Given the description of an element on the screen output the (x, y) to click on. 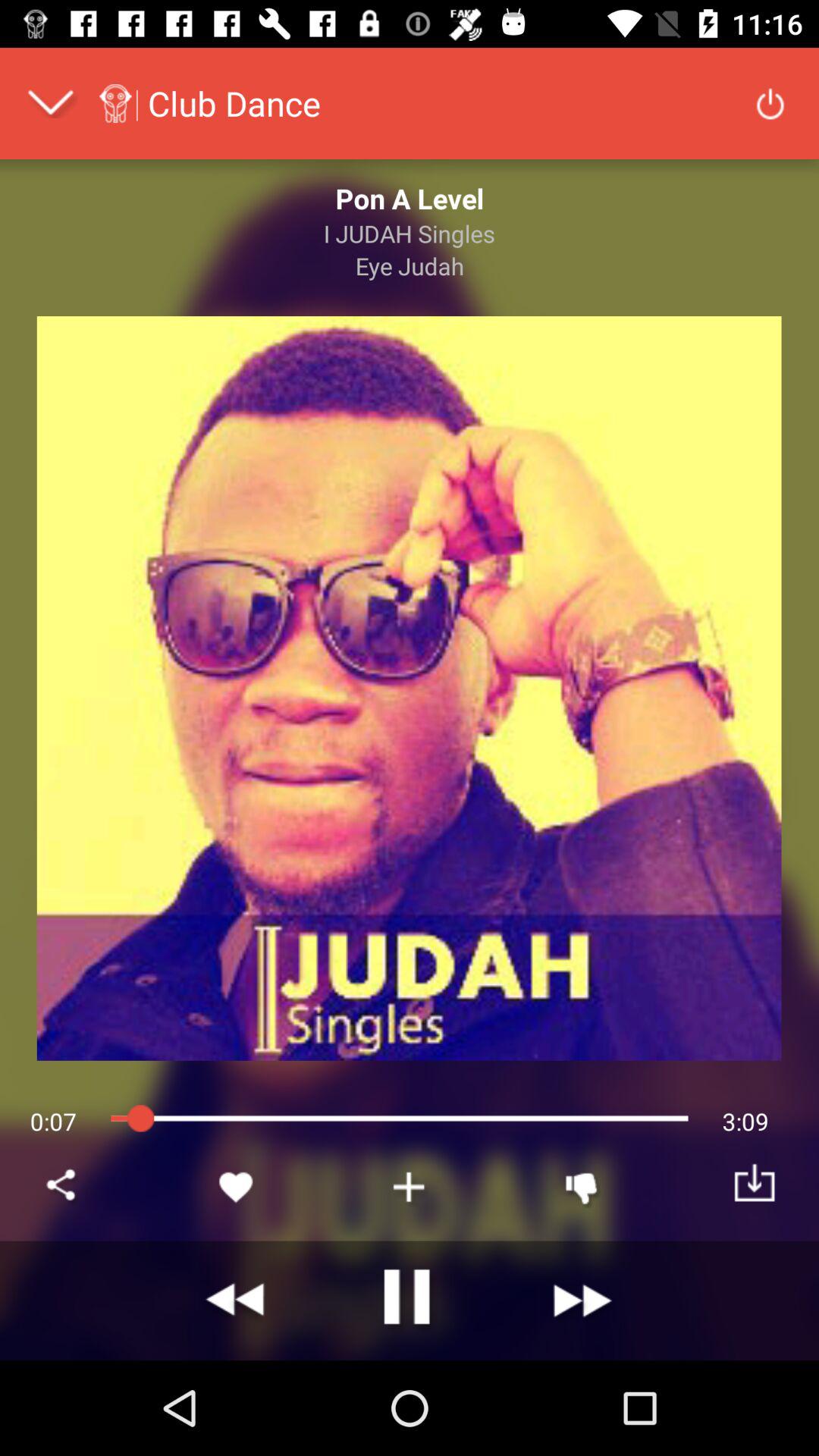
open icon next to the 3:09 (582, 1186)
